Given the description of an element on the screen output the (x, y) to click on. 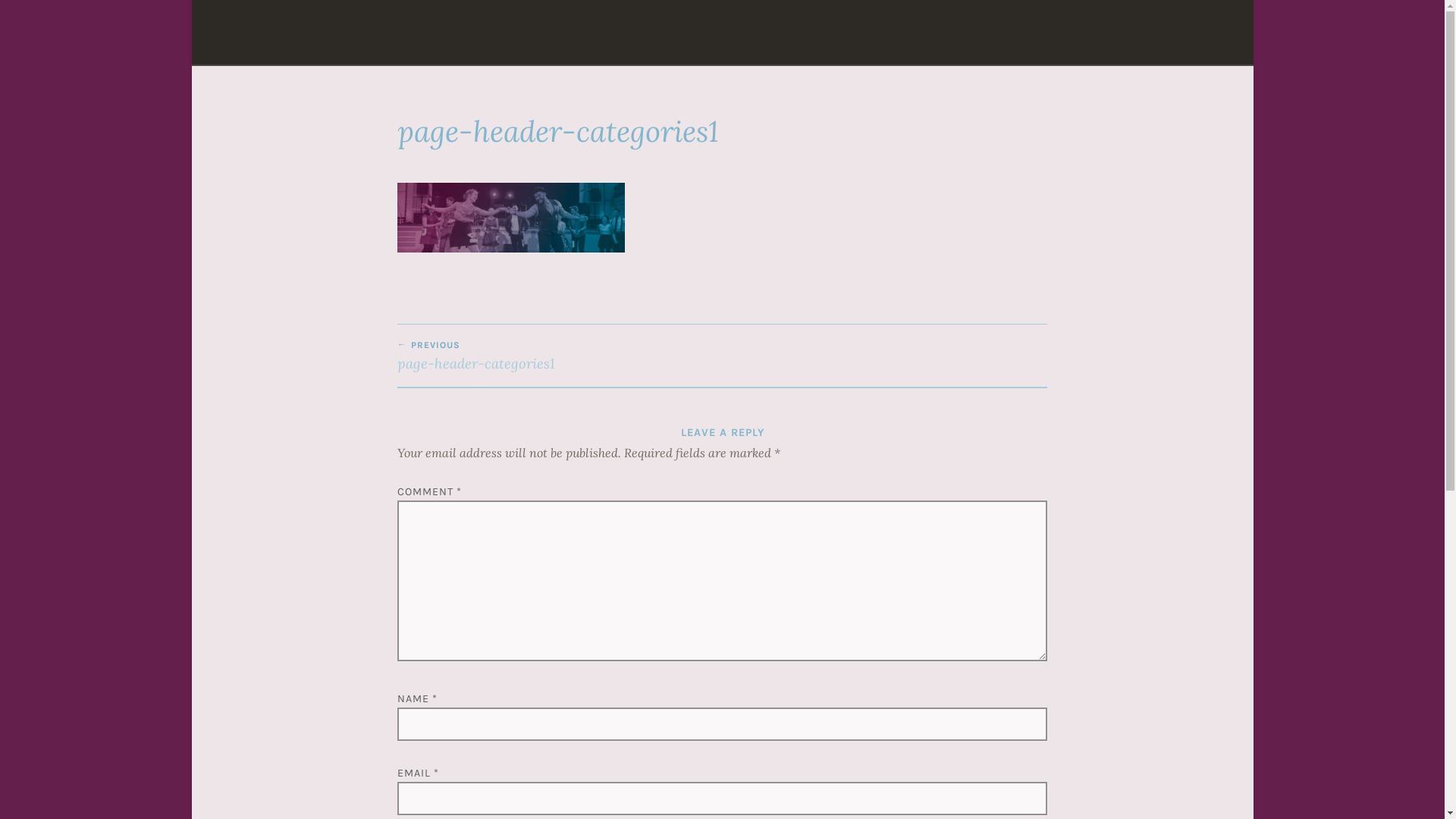
LINDYROYALE.COM.AU Element type: text (813, 53)
PREVIOUS
page-header-categories1 Element type: text (559, 354)
